Given the description of an element on the screen output the (x, y) to click on. 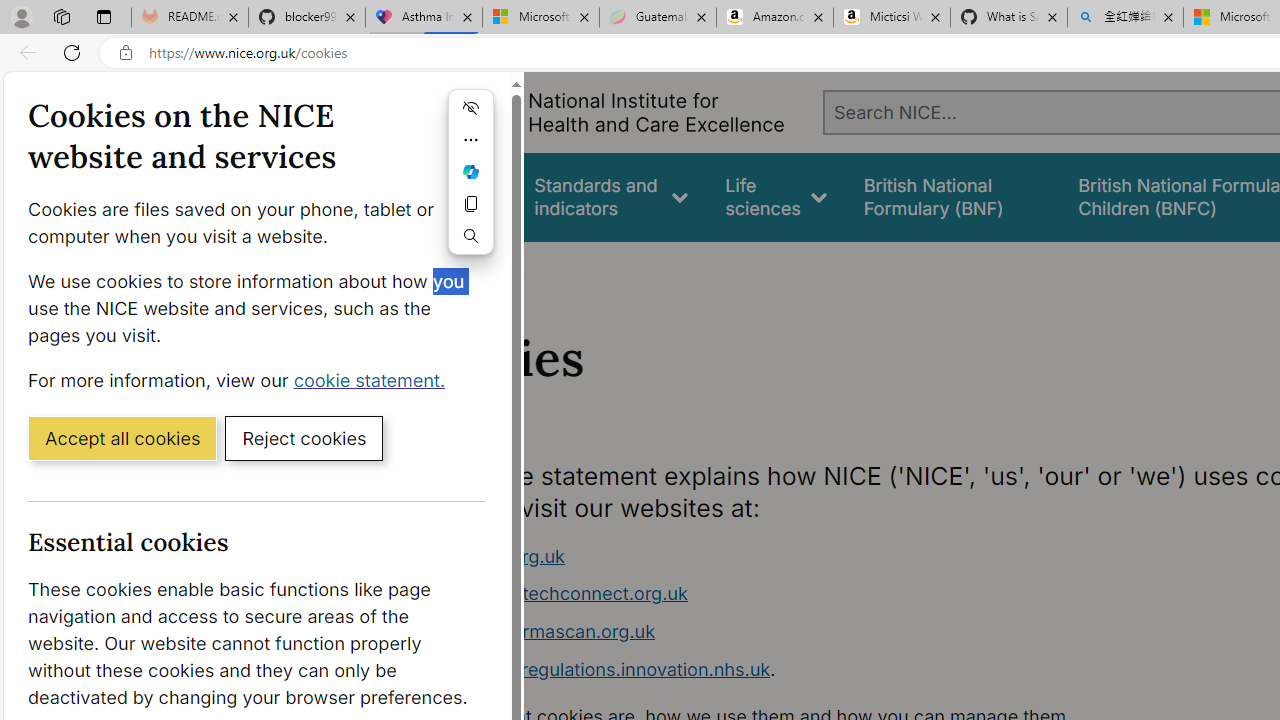
Asthma Inhalers: Names and Types (424, 17)
www.healthtechconnect.org.uk (554, 593)
false (952, 196)
www.digitalregulations.innovation.nhs.uk. (796, 669)
www.ukpharmascan.org.uk (796, 632)
Home> (433, 268)
Life sciences (776, 196)
Ask Copilot (470, 171)
